Given the description of an element on the screen output the (x, y) to click on. 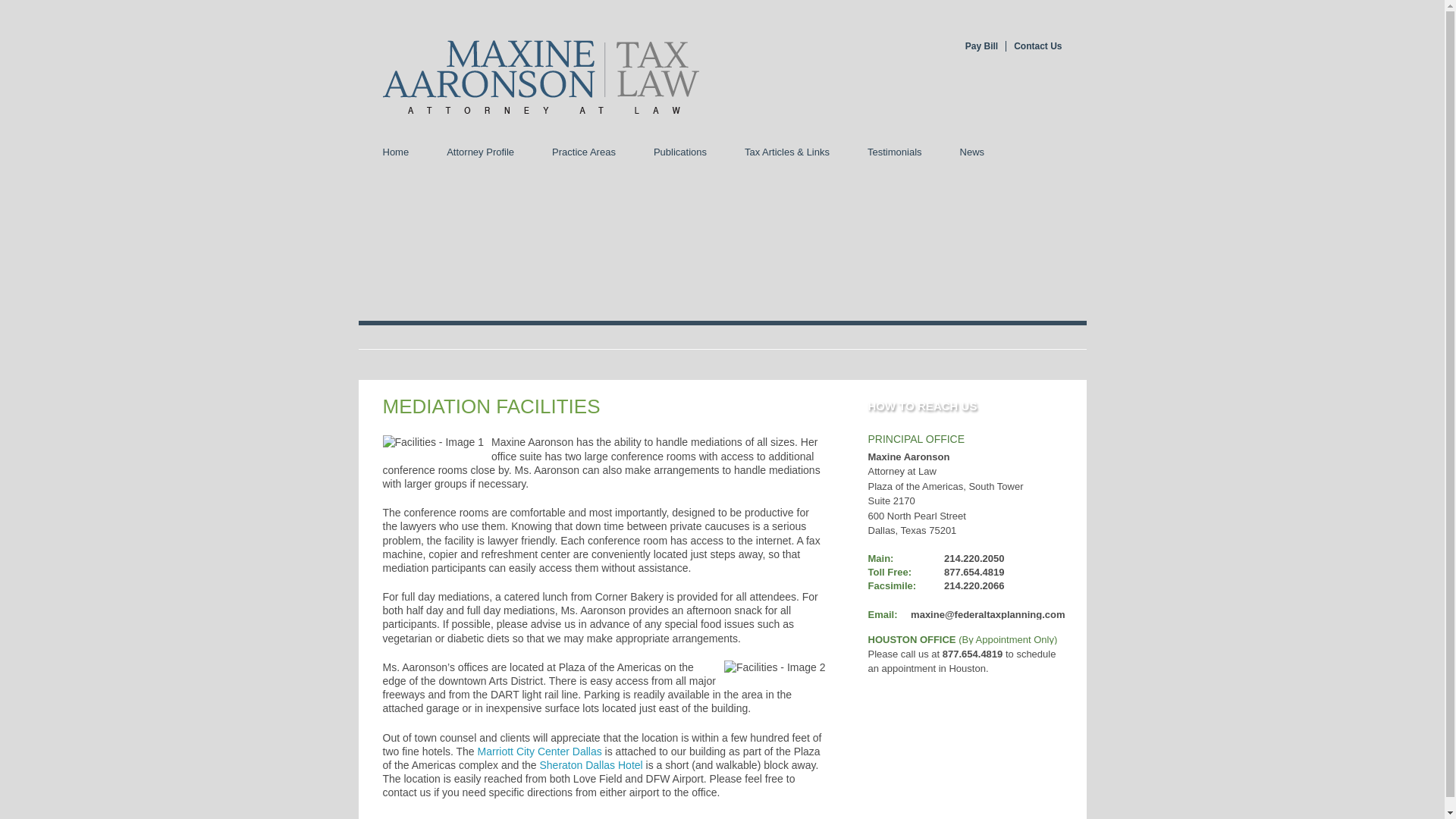
Marriott City Center Dallas (539, 751)
Sheraton Dallas Hotel (591, 765)
Attorney Profile (480, 151)
Testimonials (894, 151)
Contact Us (1033, 45)
Home (396, 151)
News (972, 151)
Large (1045, 151)
Practice Areas (583, 151)
Large (1045, 151)
Publications (679, 151)
Pay Bill (982, 45)
Largest (1059, 151)
Regular (1031, 151)
Regular (1031, 151)
